Given the description of an element on the screen output the (x, y) to click on. 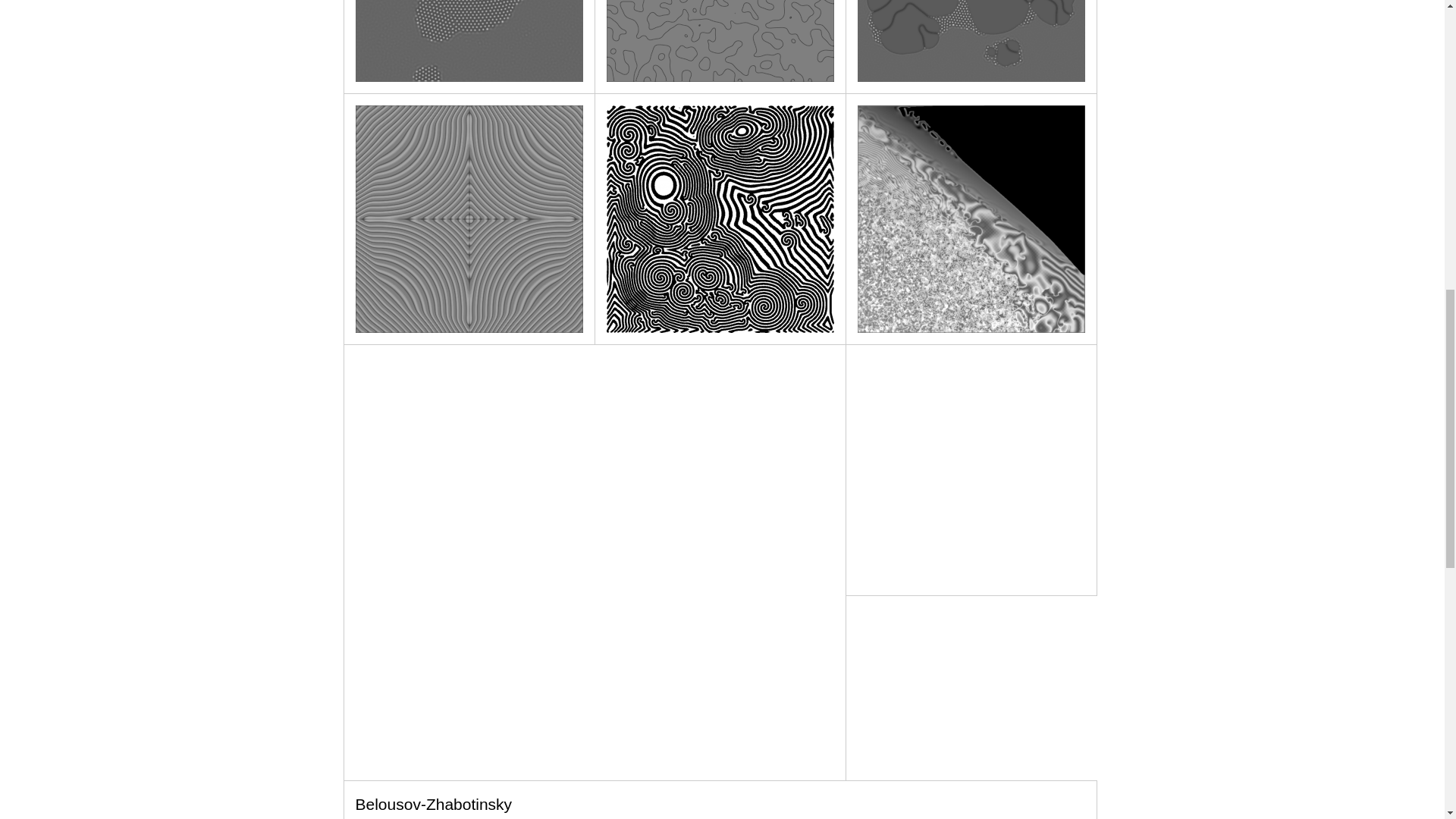
rd4 (468, 218)
rd3 (970, 40)
rd2 (720, 40)
rd5 (720, 218)
rd6 (970, 218)
rd1 (468, 40)
